Given the description of an element on the screen output the (x, y) to click on. 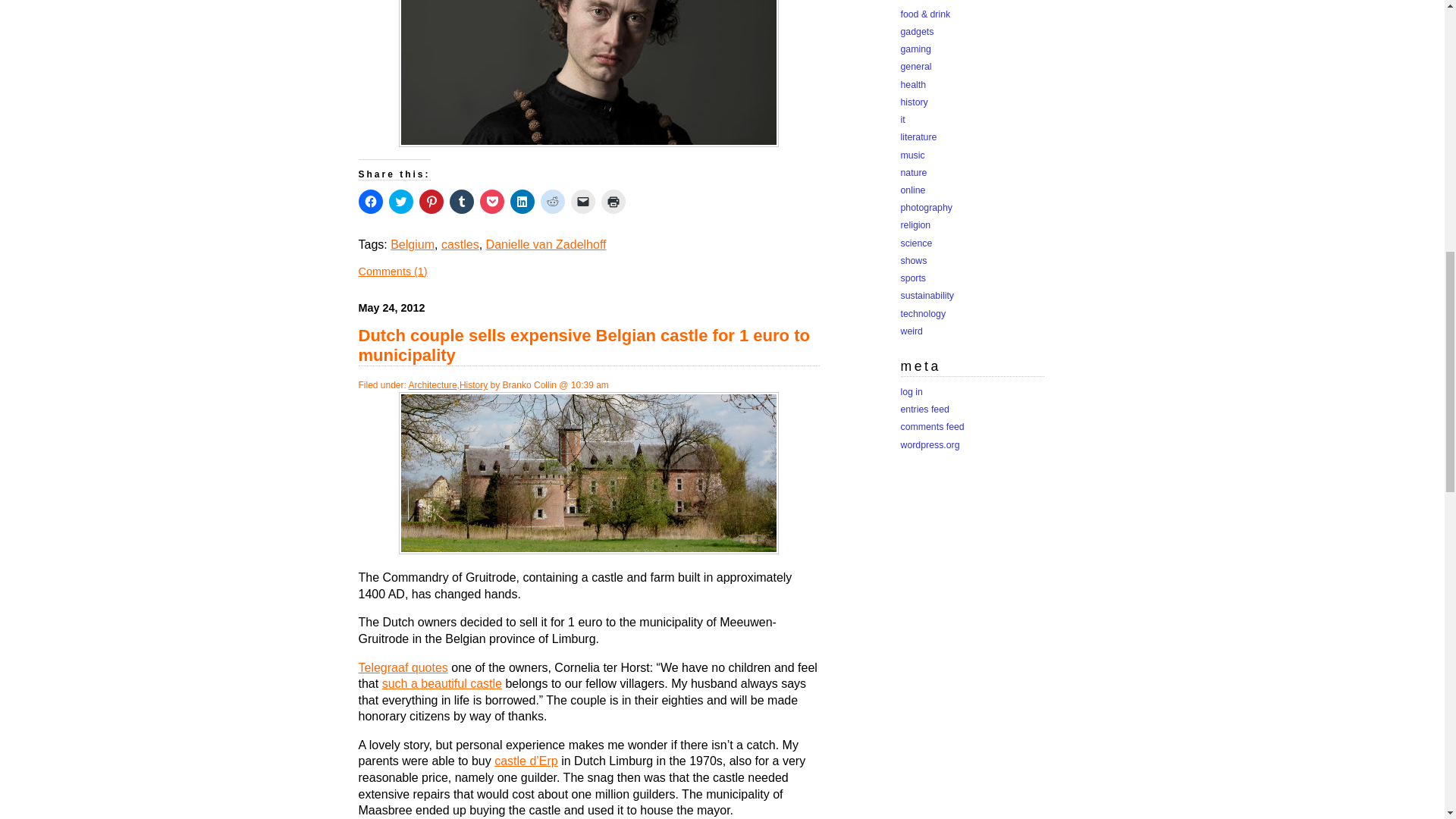
such a beautiful castle (441, 683)
Telegraaf quotes (402, 667)
Architecture (433, 385)
Danielle van Zadelhoff (546, 244)
castles (460, 244)
Belgium (411, 244)
History (473, 385)
